Given the description of an element on the screen output the (x, y) to click on. 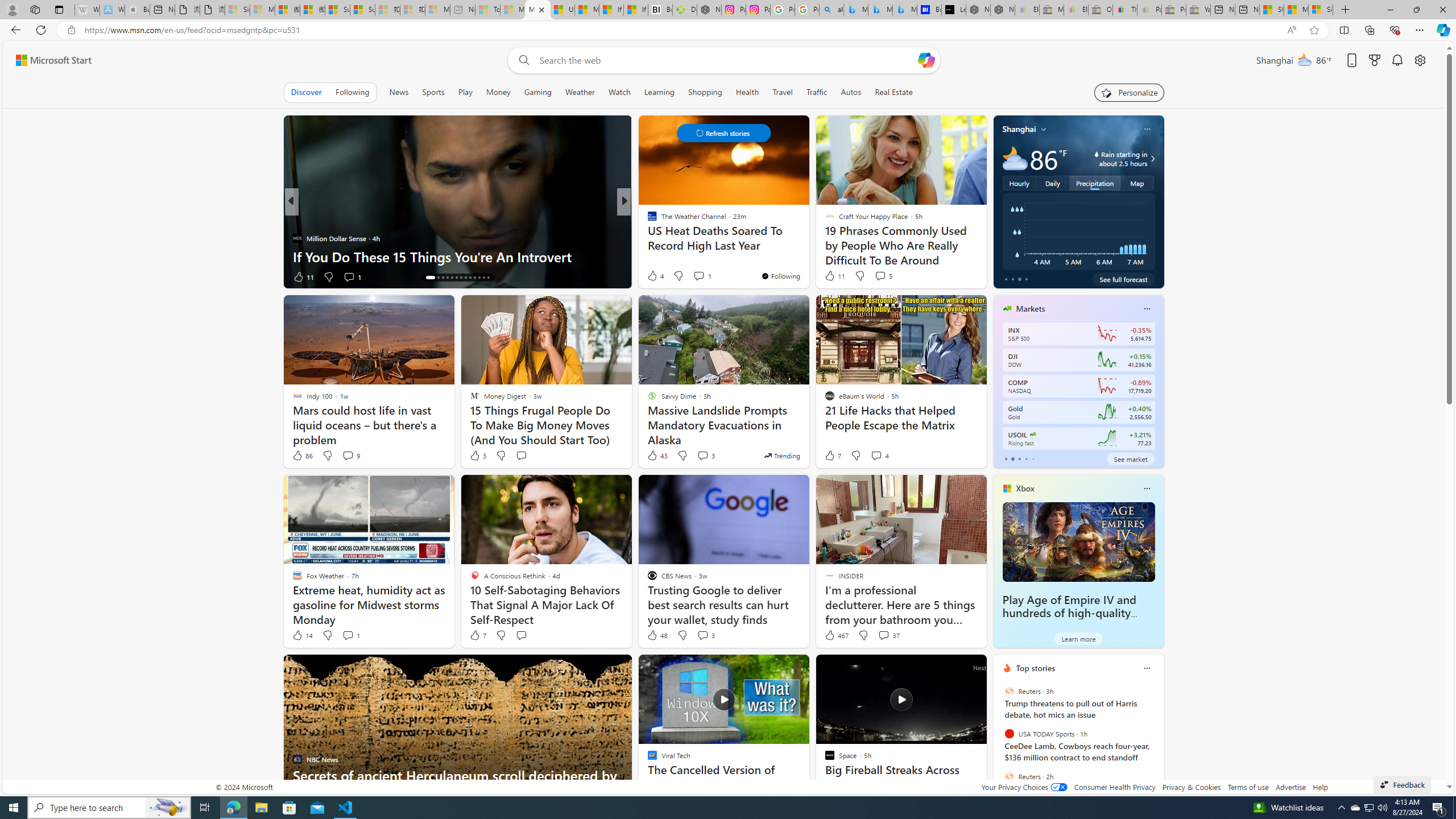
Scientists Drill Super Deep Into Weird Underwater Structures (807, 247)
View comments 35 Comment (703, 276)
View comments 4 Comment (876, 455)
spot on news (647, 238)
The Cool Down (647, 219)
View comments 53 Comment (707, 276)
115 Like (654, 276)
Top stories (1035, 668)
